Given the description of an element on the screen output the (x, y) to click on. 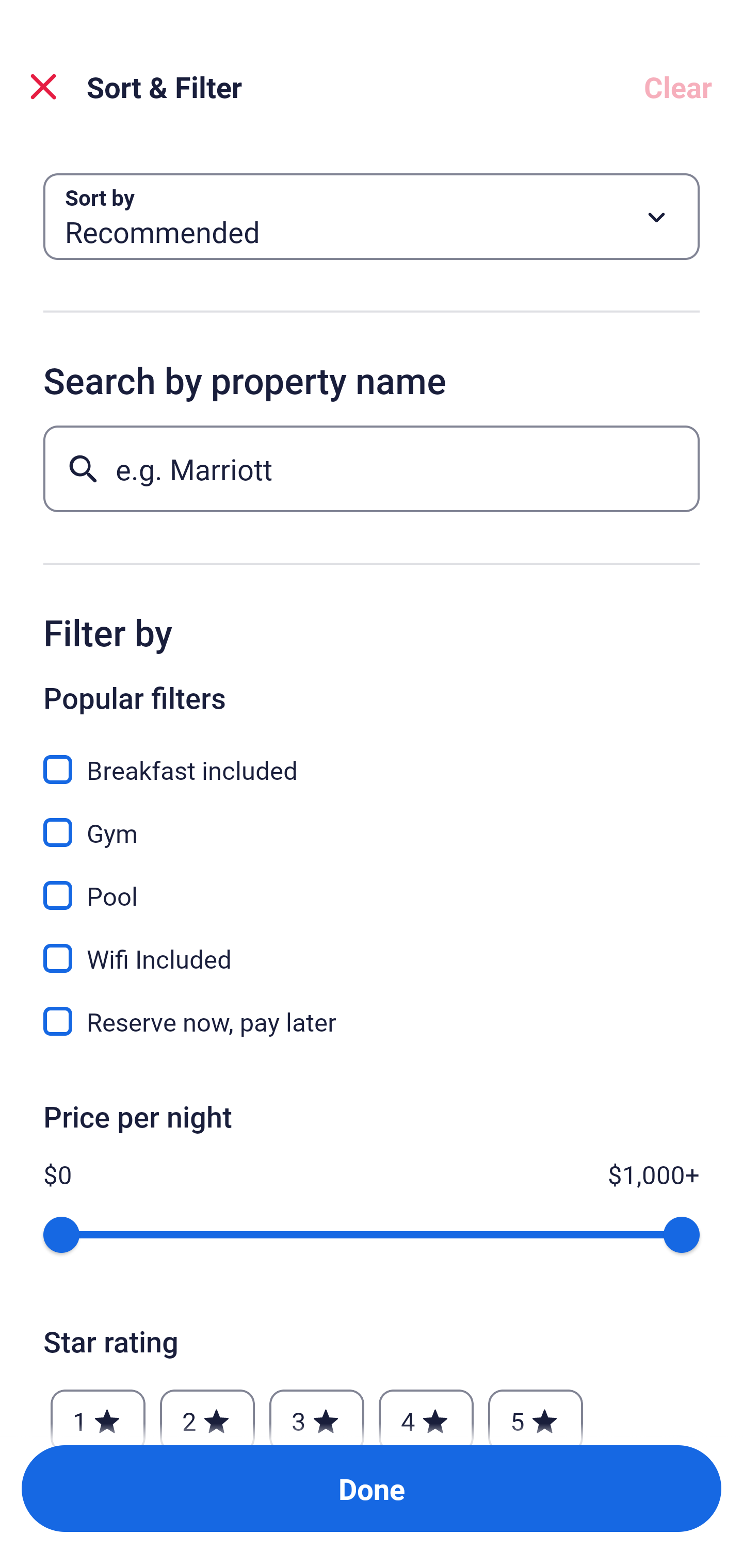
Close Sort and Filter (43, 86)
Clear (677, 86)
Sort by Button Recommended (371, 217)
e.g. Marriott Button (371, 468)
Breakfast included, Breakfast included (371, 757)
Gym, Gym (371, 821)
Pool, Pool (371, 883)
Wifi Included, Wifi Included (371, 946)
Reserve now, pay later, Reserve now, pay later (371, 1021)
1 (97, 1411)
2 (206, 1411)
3 (316, 1411)
4 (426, 1411)
5 (535, 1411)
Apply and close Sort and Filter Done (371, 1488)
